Given the description of an element on the screen output the (x, y) to click on. 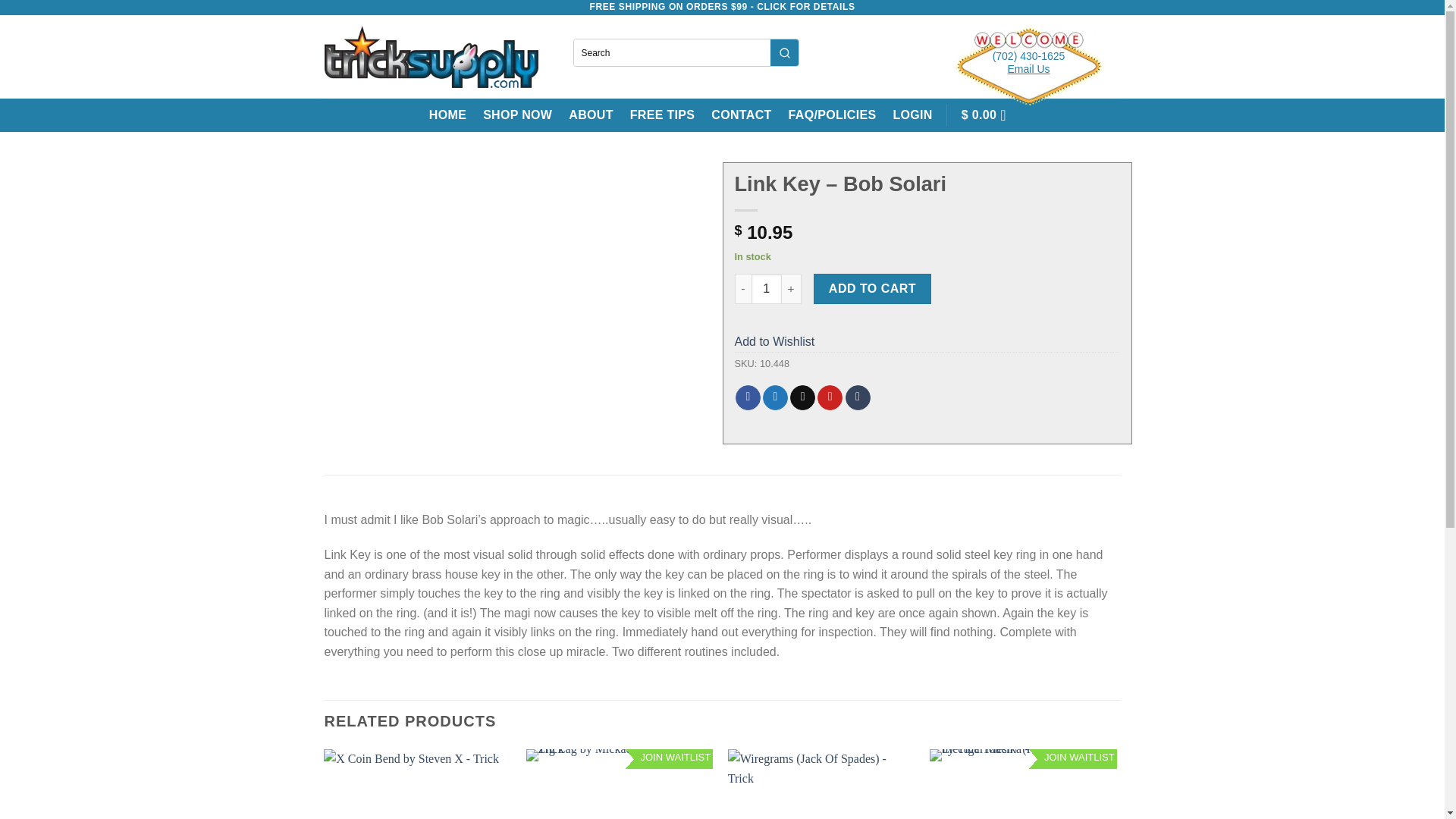
X Coin Bend by Steven X - Trick (417, 784)
1 (766, 288)
LOGIN (911, 114)
SHOP NOW (517, 114)
Zig Zag by Mickael Chatelain - Trick (619, 784)
Share on Twitter (774, 397)
Add to Wishlist (773, 341)
Email to a Friend (802, 397)
Pin on Pinterest (829, 397)
Cart (987, 114)
